Given the description of an element on the screen output the (x, y) to click on. 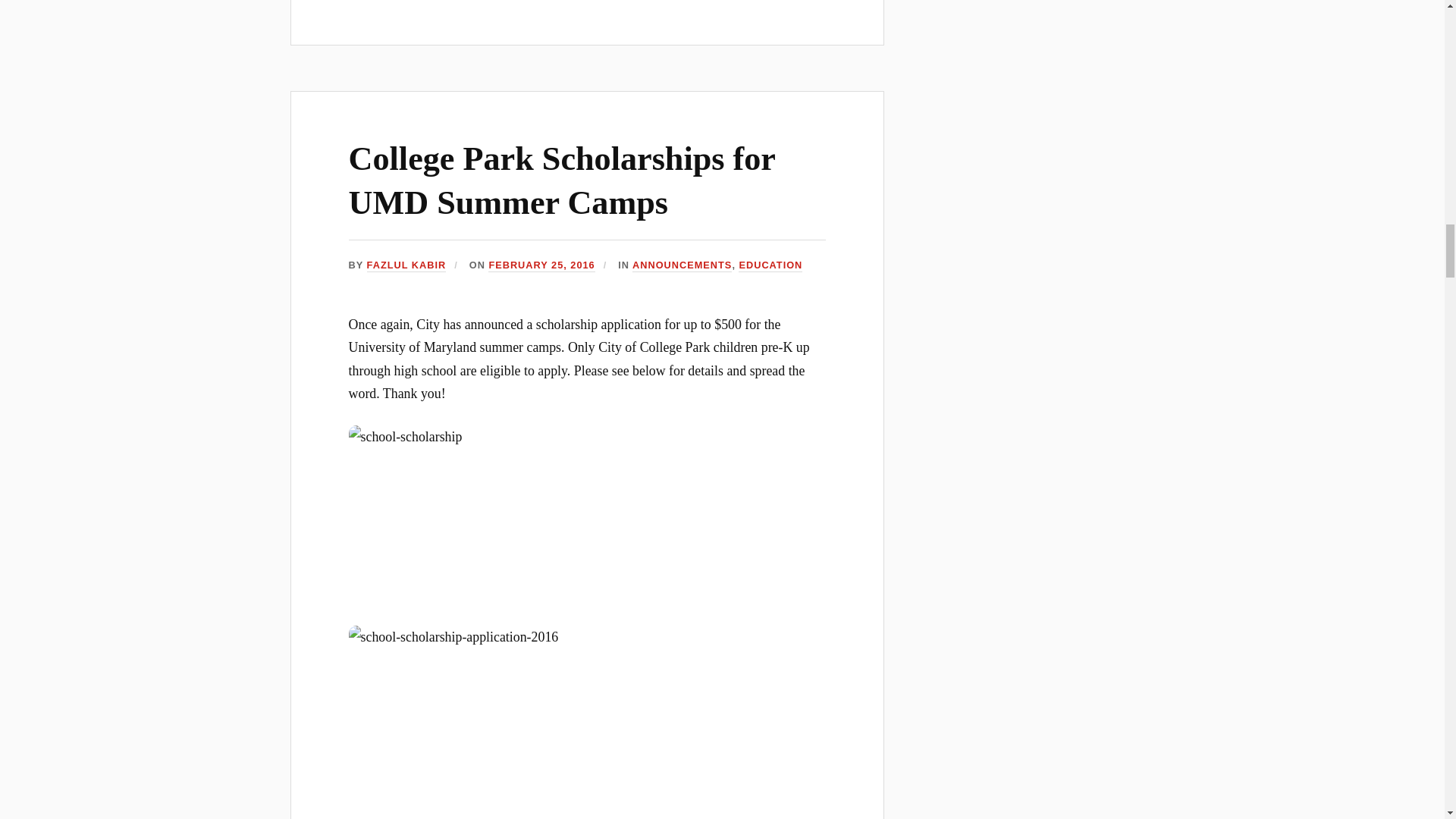
FAZLUL KABIR (406, 265)
College Park Scholarships for UMD Summer Camps (562, 180)
Posts by Fazlul Kabir (406, 265)
